Given the description of an element on the screen output the (x, y) to click on. 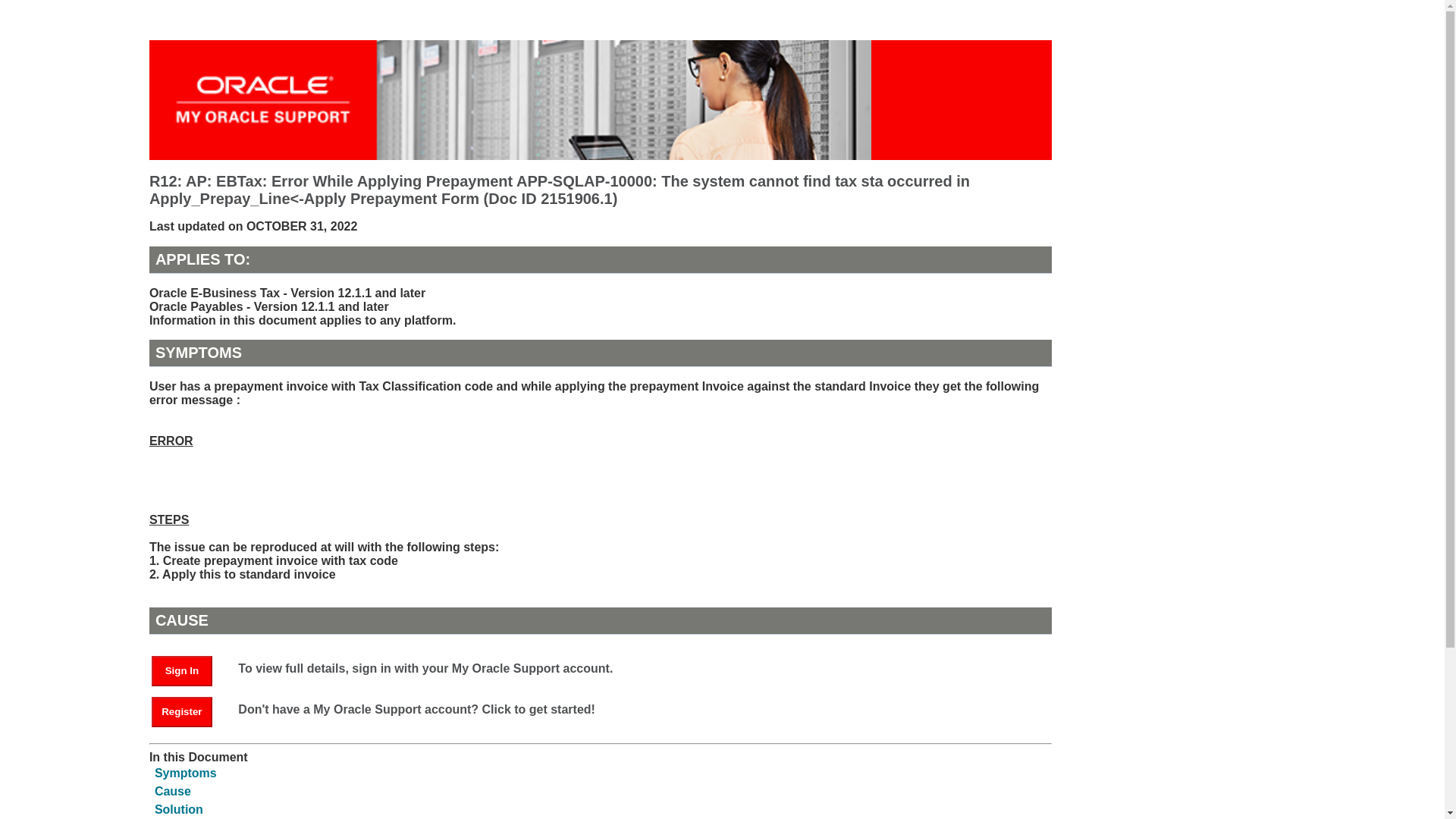
Cause (172, 790)
Register (181, 711)
Register (189, 710)
Symptoms (185, 772)
Sign In (189, 669)
Solution (178, 809)
Sign In (181, 671)
